Given the description of an element on the screen output the (x, y) to click on. 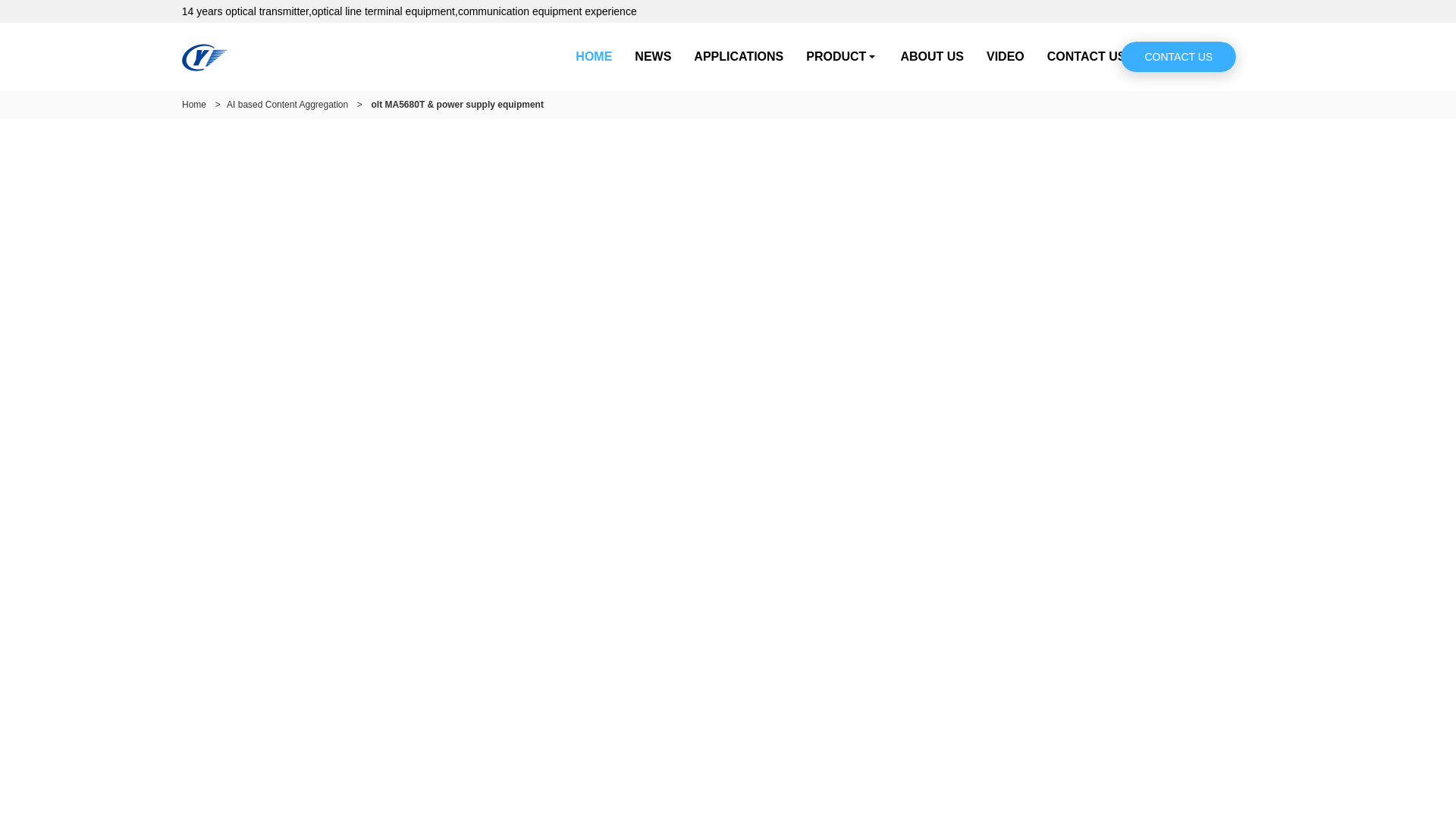
ABOUT US (931, 56)
PRODUCT (841, 56)
APPLICATIONS (738, 56)
Home (194, 104)
VIDEO (1005, 56)
AI based Content Aggregation (287, 104)
CONTACT US (1086, 56)
